Given the description of an element on the screen output the (x, y) to click on. 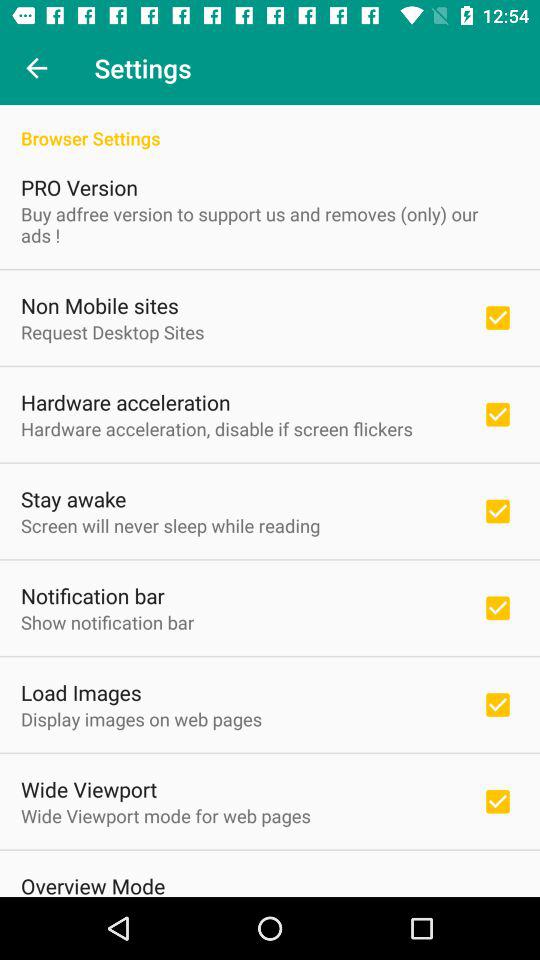
select browser settings item (270, 127)
